Given the description of an element on the screen output the (x, y) to click on. 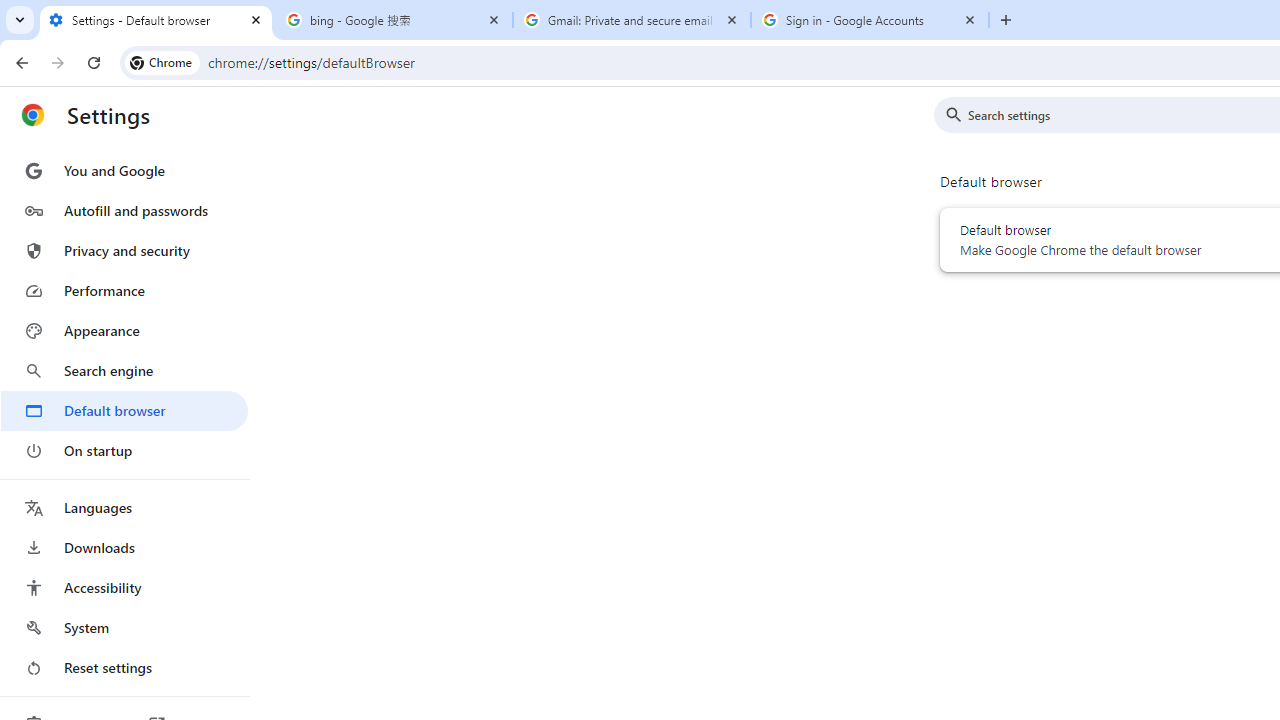
Autofill and passwords (124, 210)
On startup (124, 450)
Sign in - Google Accounts (870, 20)
Default browser (124, 410)
Appearance (124, 331)
Privacy and security (124, 250)
